Given the description of an element on the screen output the (x, y) to click on. 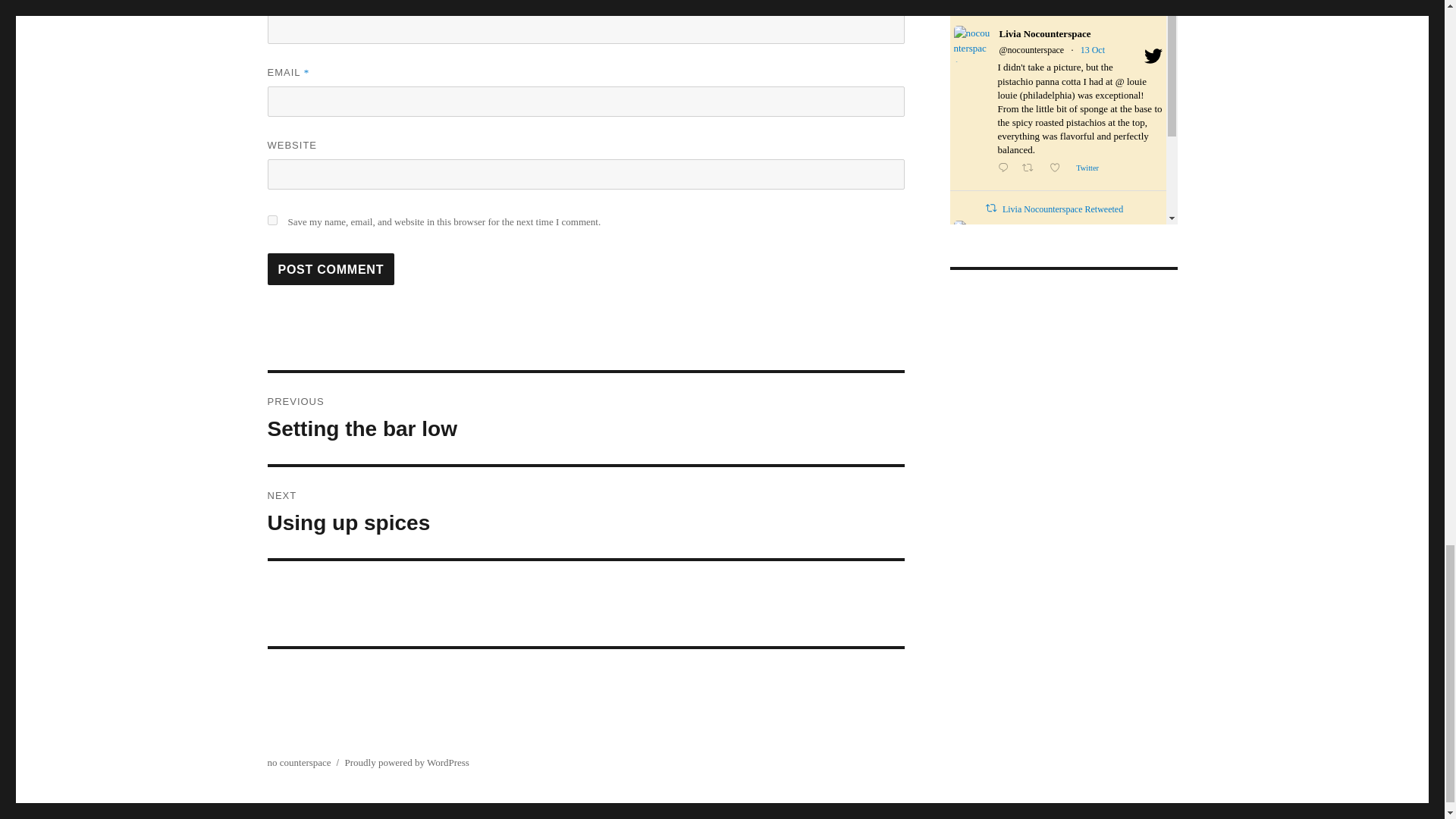
yes (585, 511)
Post Comment (585, 418)
Post Comment (271, 220)
